Given the description of an element on the screen output the (x, y) to click on. 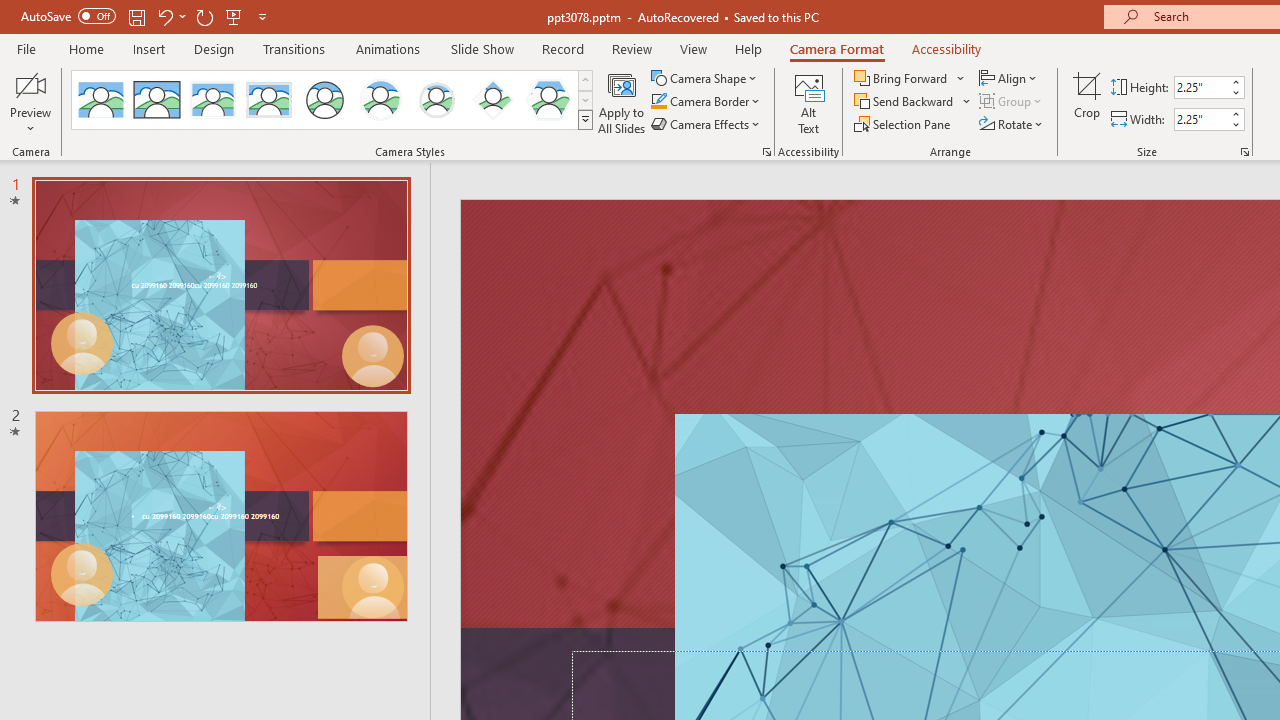
Rotate (1012, 124)
Simple Frame Rectangle (157, 100)
Bring Forward (910, 78)
Apply to All Slides (621, 102)
Bring Forward (902, 78)
Size and Position... (1244, 151)
Align (1009, 78)
Center Shadow Diamond (492, 100)
No Style (100, 100)
